Given the description of an element on the screen output the (x, y) to click on. 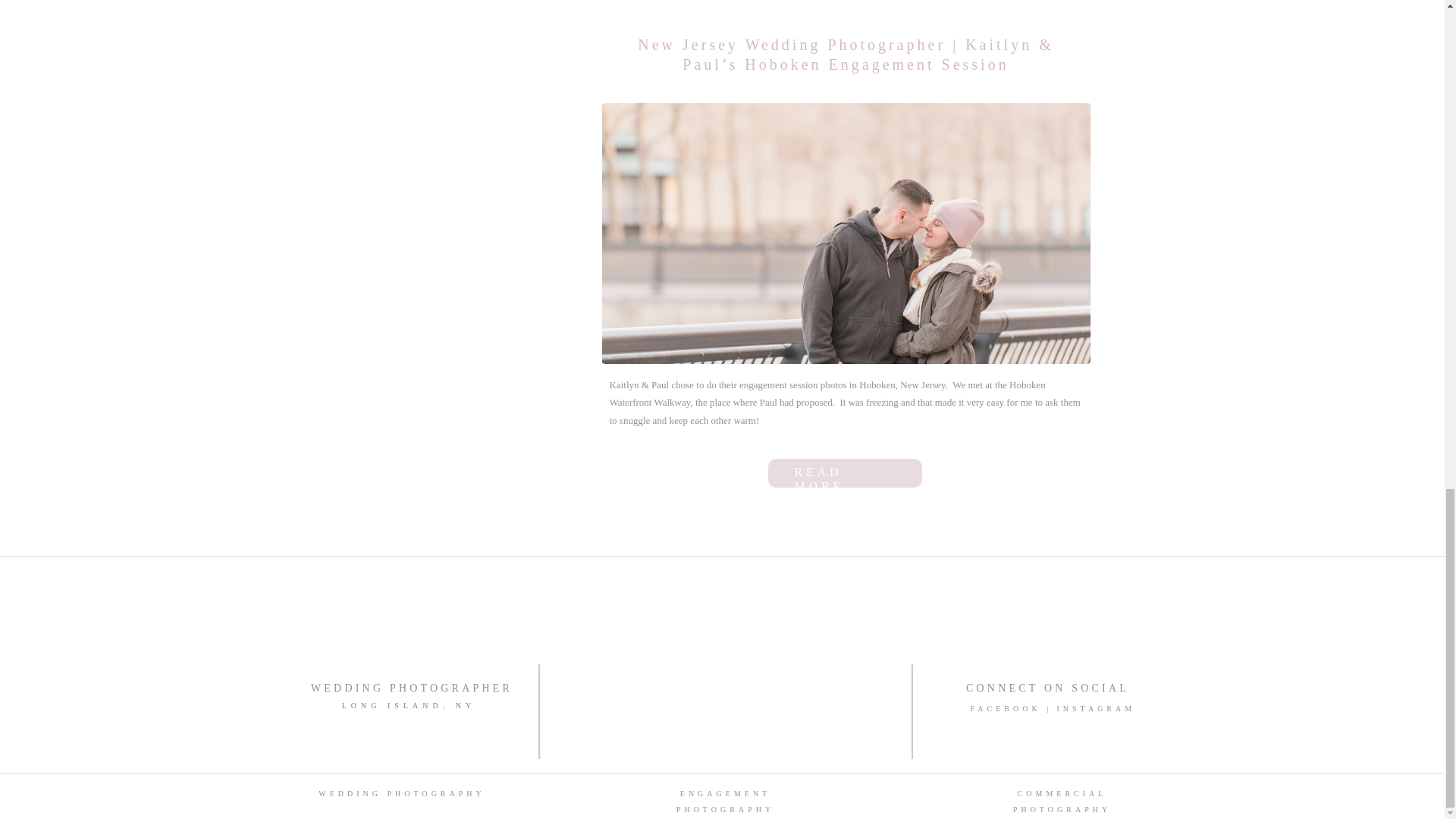
READ MORE (846, 473)
